Given the description of an element on the screen output the (x, y) to click on. 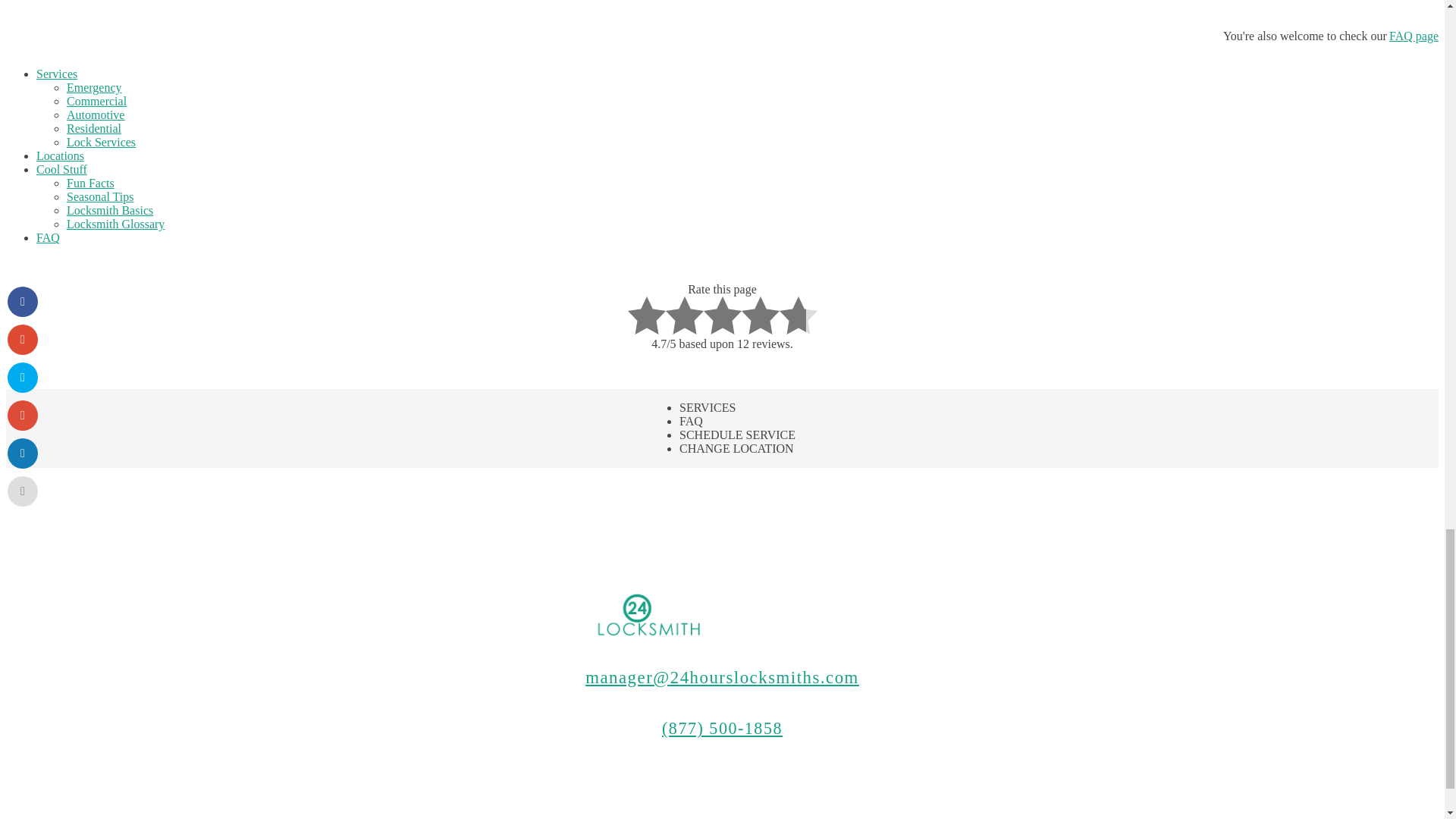
Emergency (94, 87)
Services (56, 73)
Locations (60, 155)
Fun Facts (90, 182)
Commercial (96, 101)
Automotive (94, 114)
Seasonal Tips (99, 196)
Residential (93, 128)
Lock Services (100, 141)
Cool Stuff (61, 169)
